Given the description of an element on the screen output the (x, y) to click on. 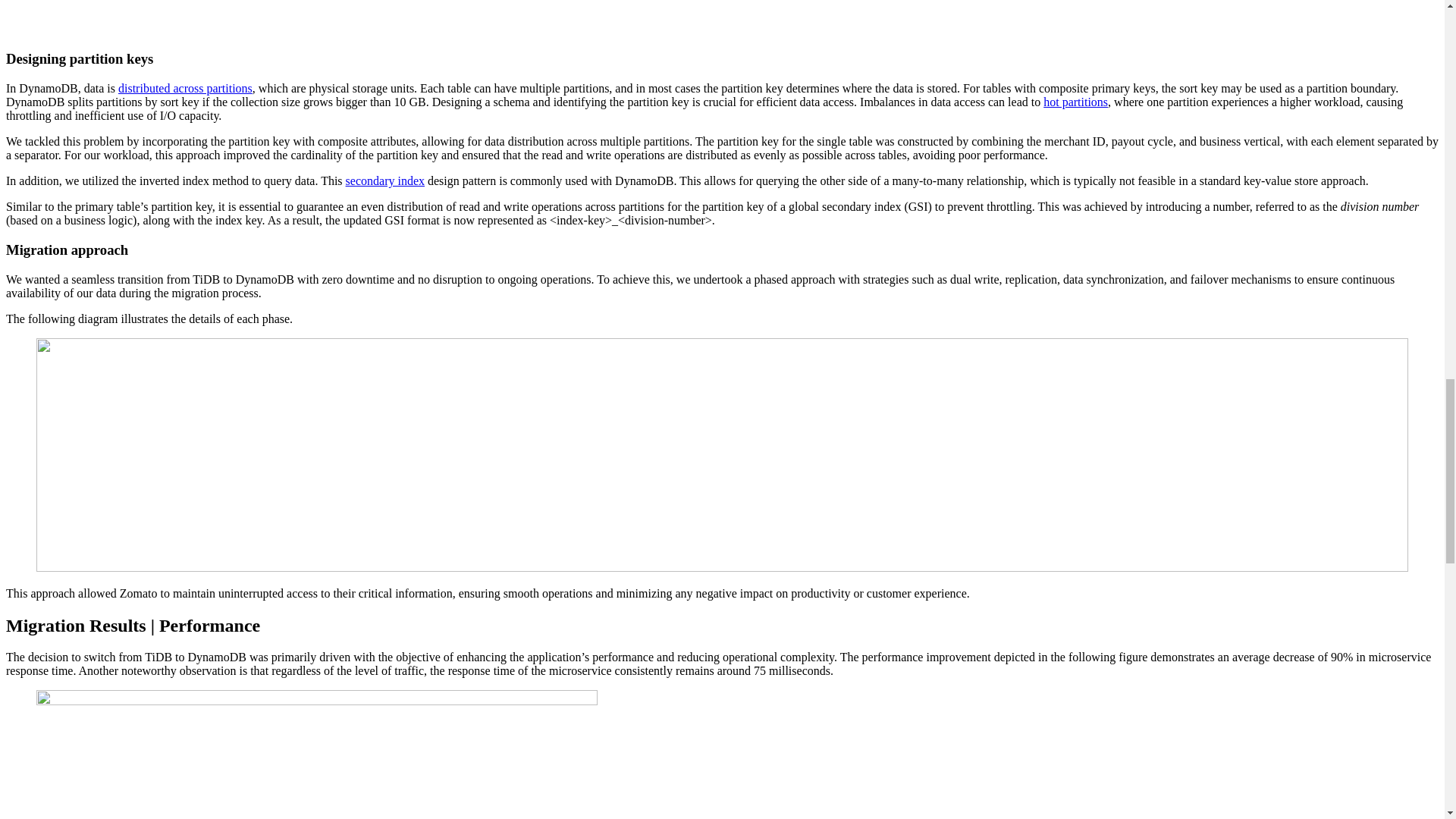
distributed across partitions (184, 88)
secondary index (385, 180)
hot partitions (1075, 101)
